Given the description of an element on the screen output the (x, y) to click on. 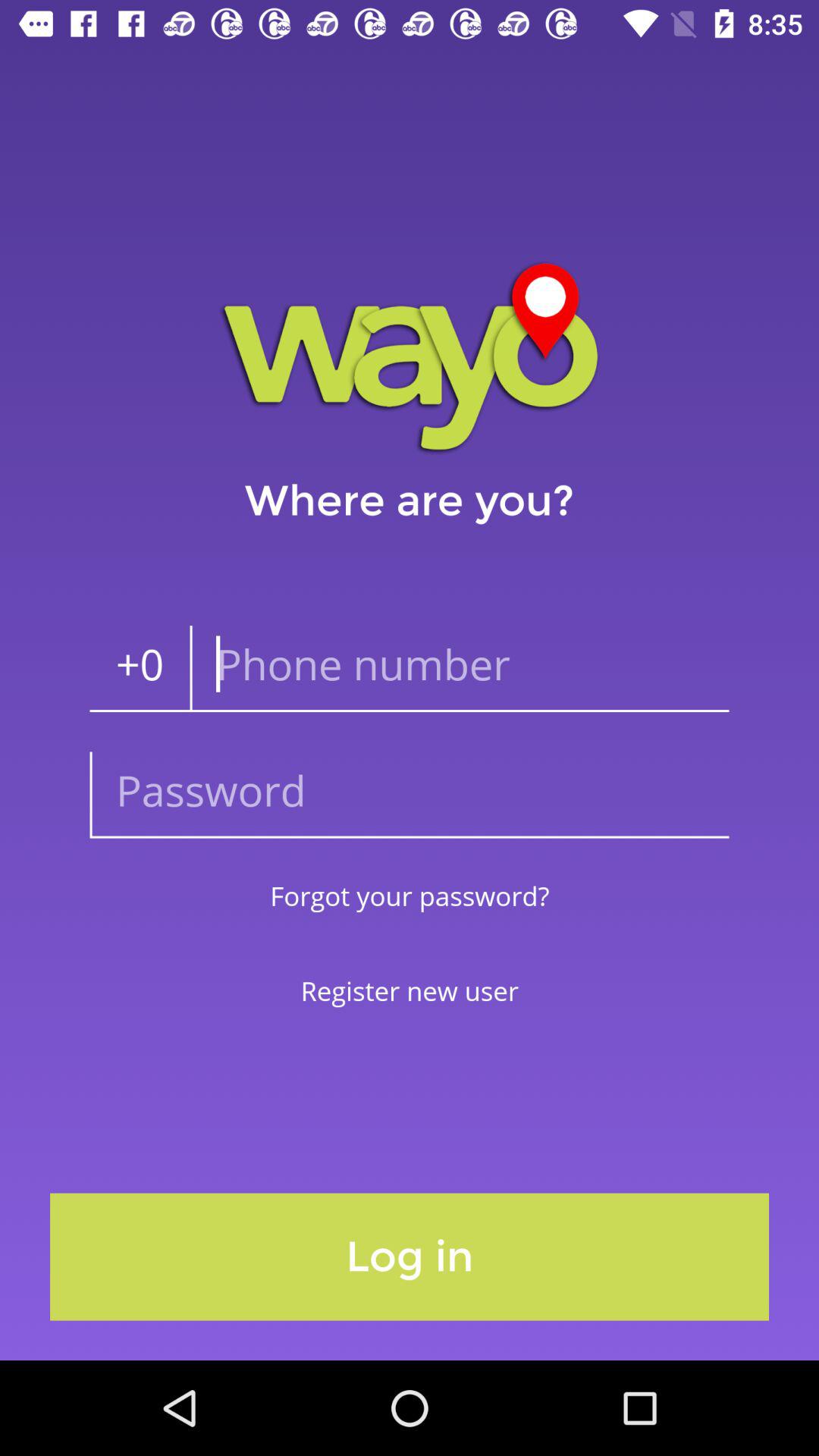
swipe to the log in icon (409, 1256)
